Given the description of an element on the screen output the (x, y) to click on. 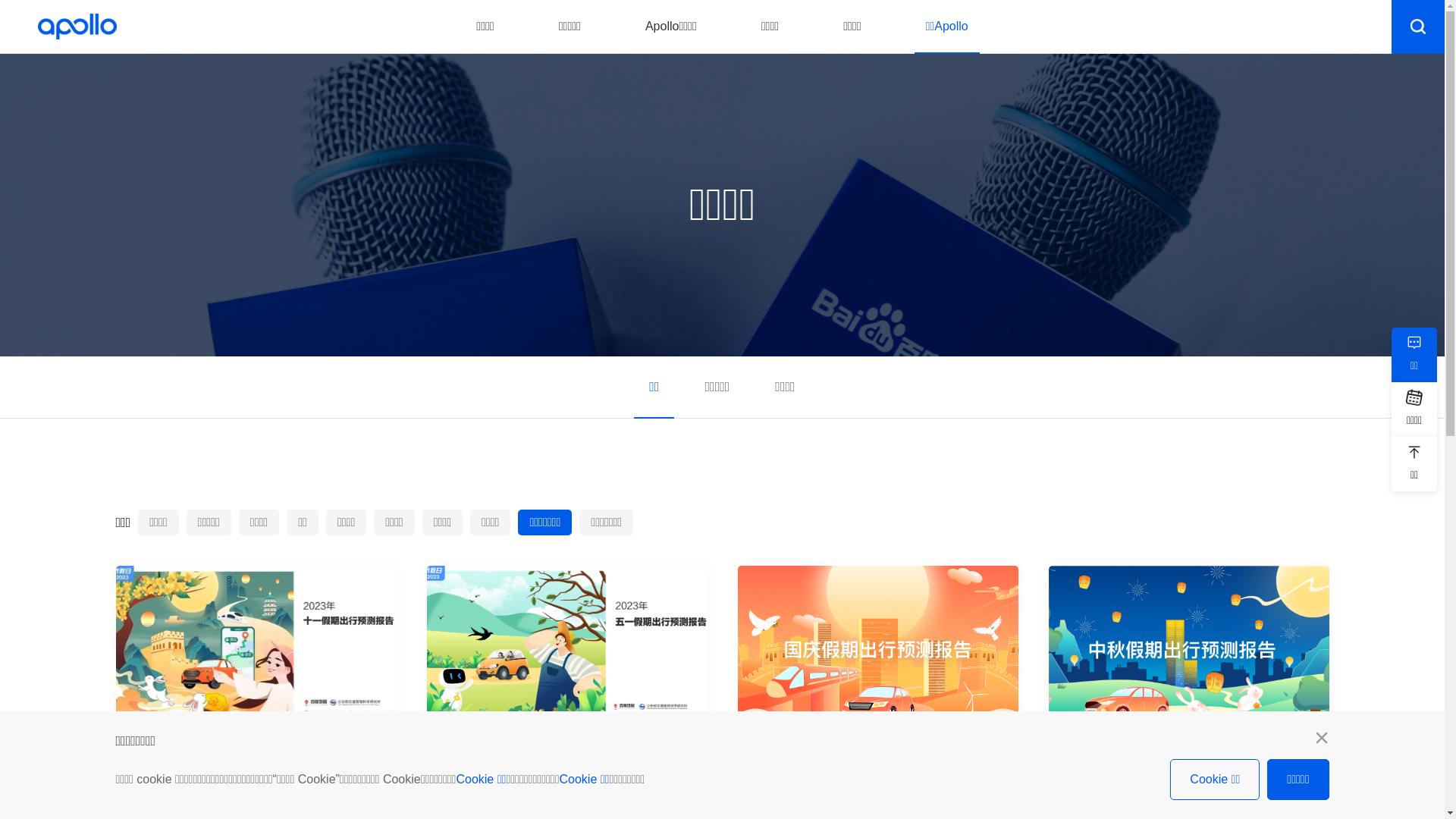
apollo Element type: hover (76, 26)
